Given the description of an element on the screen output the (x, y) to click on. 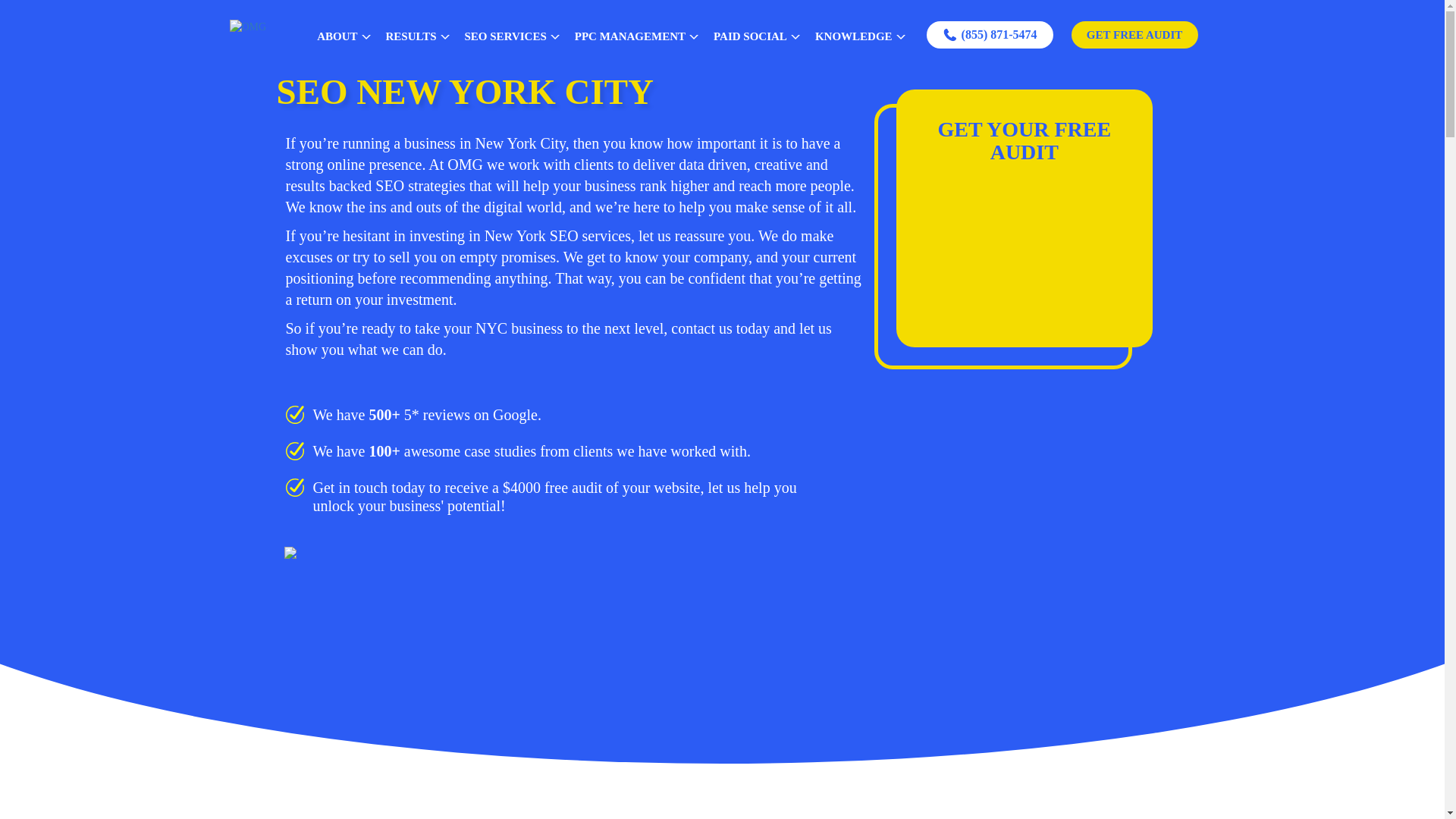
ABOUT (342, 34)
PPC MANAGEMENT (636, 34)
GET FREE AUDIT (1134, 34)
PAID SOCIAL (757, 34)
SEO SERVICES (512, 34)
RESULTS (417, 34)
KNOWLEDGE (860, 34)
